Given the description of an element on the screen output the (x, y) to click on. 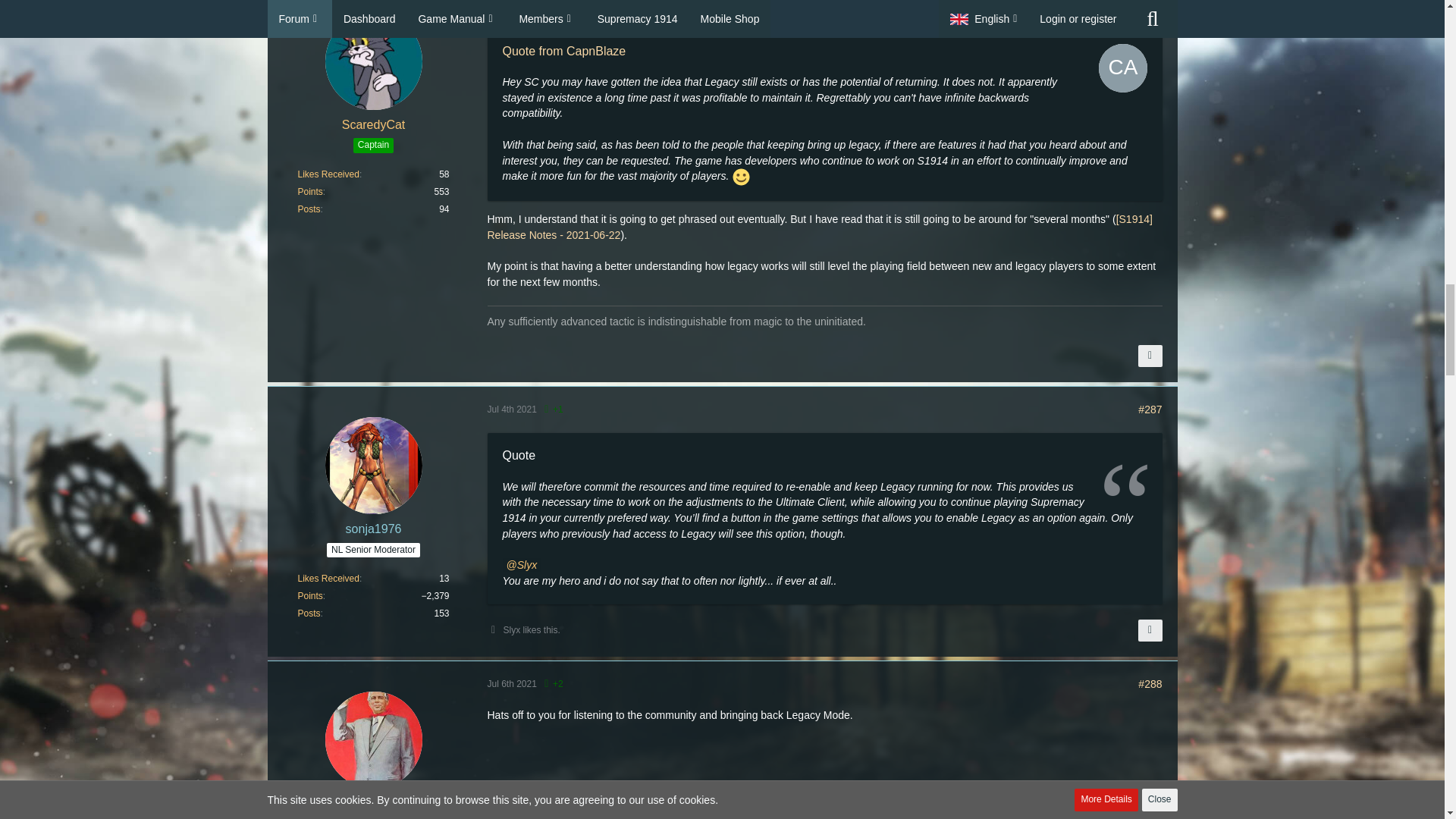
smile (740, 176)
